Given the description of an element on the screen output the (x, y) to click on. 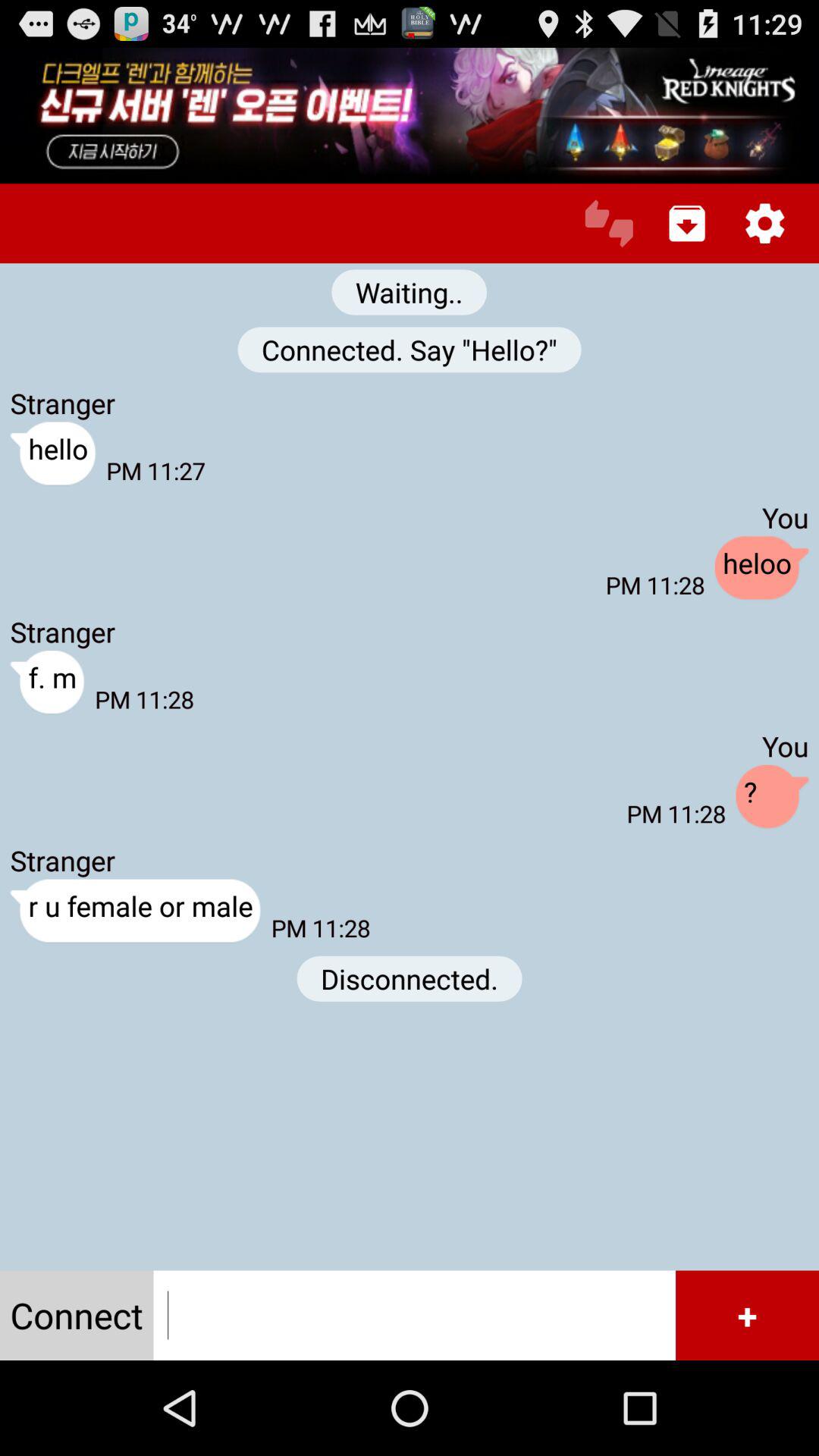
select icon at the bottom left corner (76, 1315)
